Given the description of an element on the screen output the (x, y) to click on. 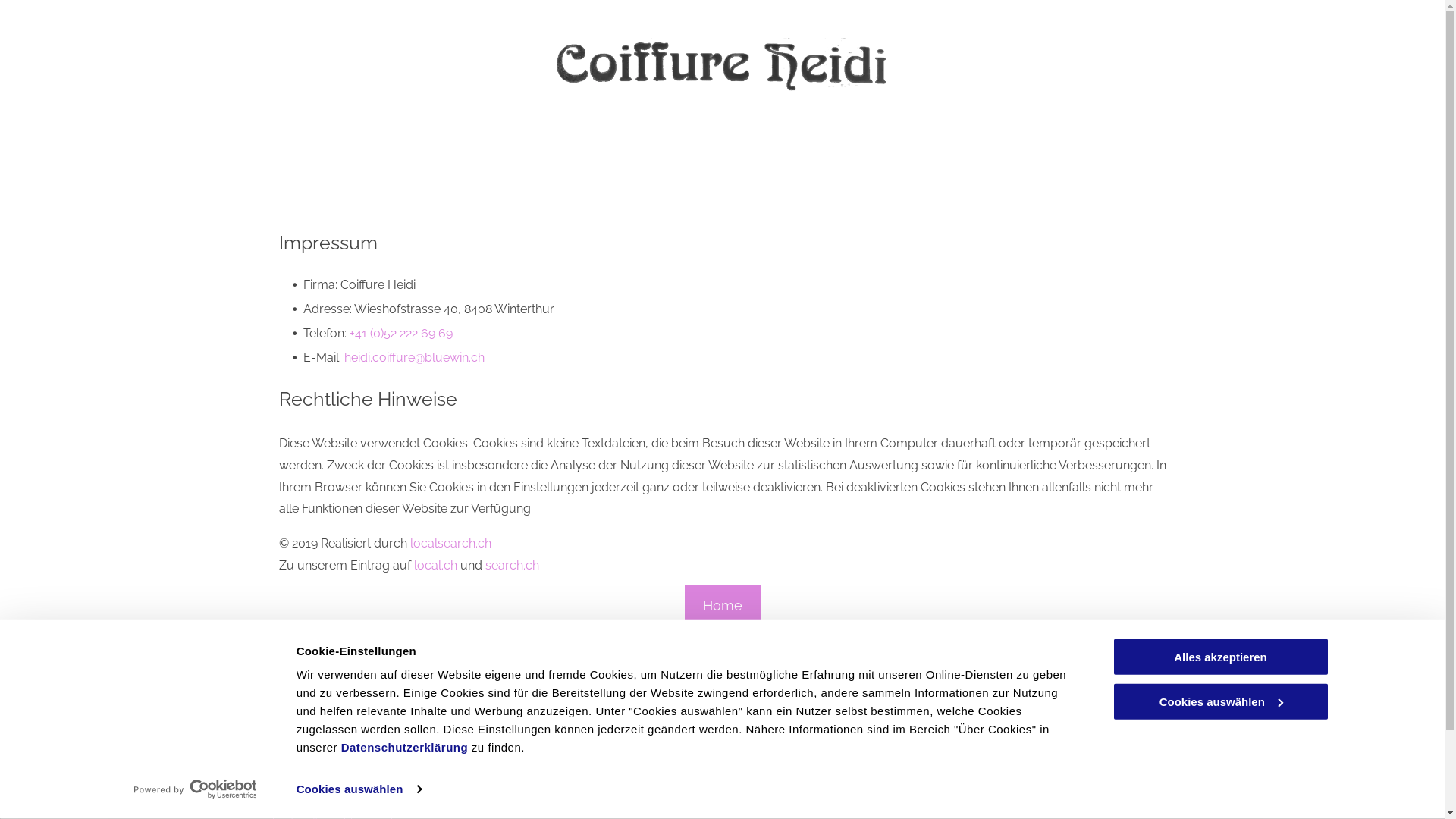
+41 (0)52 222 69 69 Element type: text (399, 333)
localsearch.ch Element type: text (449, 543)
heidi.coiffure@bluewin.ch Element type: text (414, 357)
  Element type: text (286, 785)
Impressum Element type: text (1370, 769)
search.ch Element type: text (512, 565)
+41 (0)52 222 69 69 Element type: text (334, 785)
Home Element type: text (721, 605)
local.ch Element type: text (435, 565)
Alles akzeptieren Element type: text (1219, 656)
  Element type: text (273, 785)
